Given the description of an element on the screen output the (x, y) to click on. 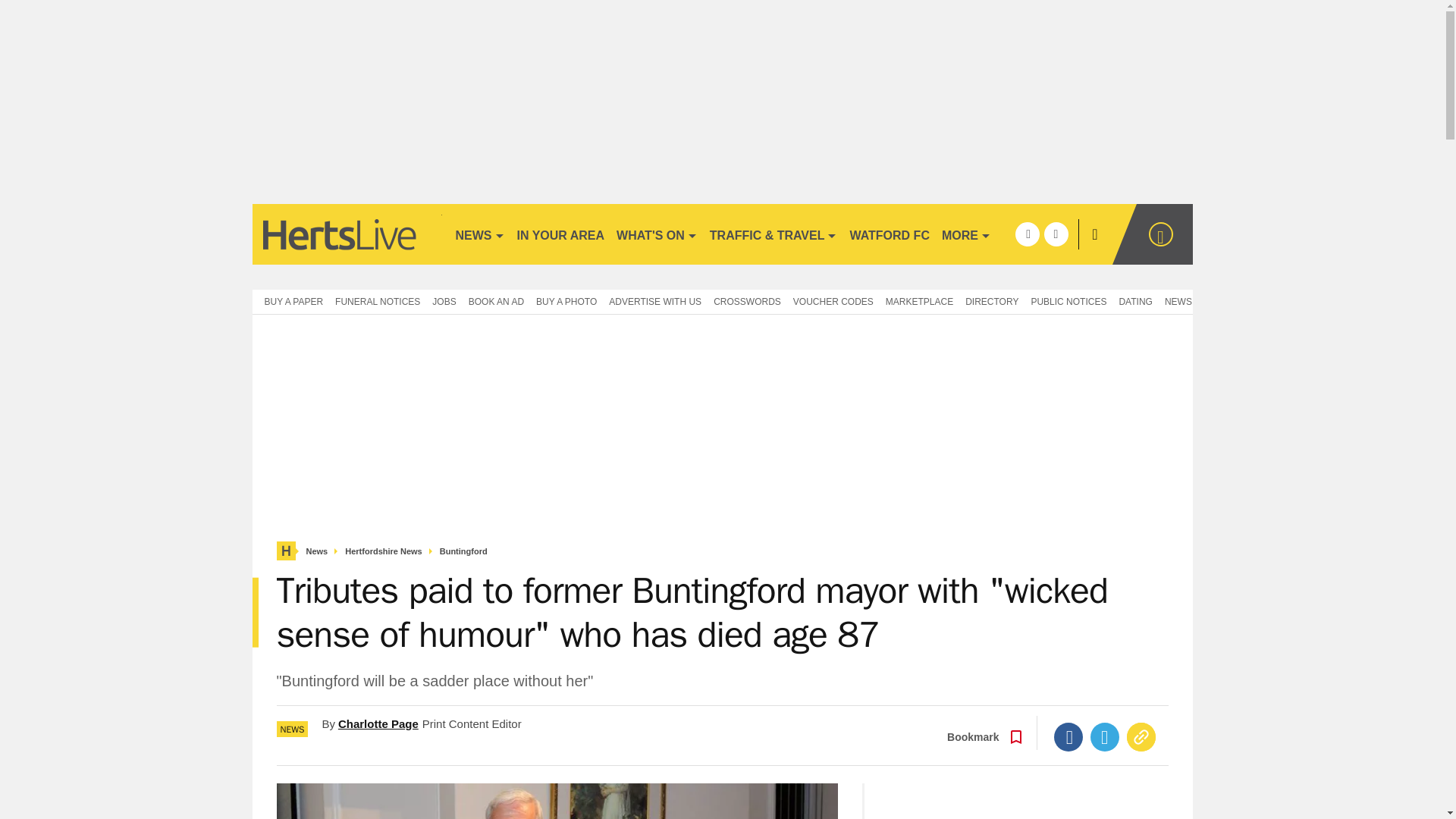
WHAT'S ON (656, 233)
NEWS (479, 233)
twitter (1055, 233)
MORE (966, 233)
Twitter (1104, 736)
Facebook (1068, 736)
IN YOUR AREA (561, 233)
WATFORD FC (888, 233)
facebook (1026, 233)
hertfordshiremercury (346, 233)
